Given the description of an element on the screen output the (x, y) to click on. 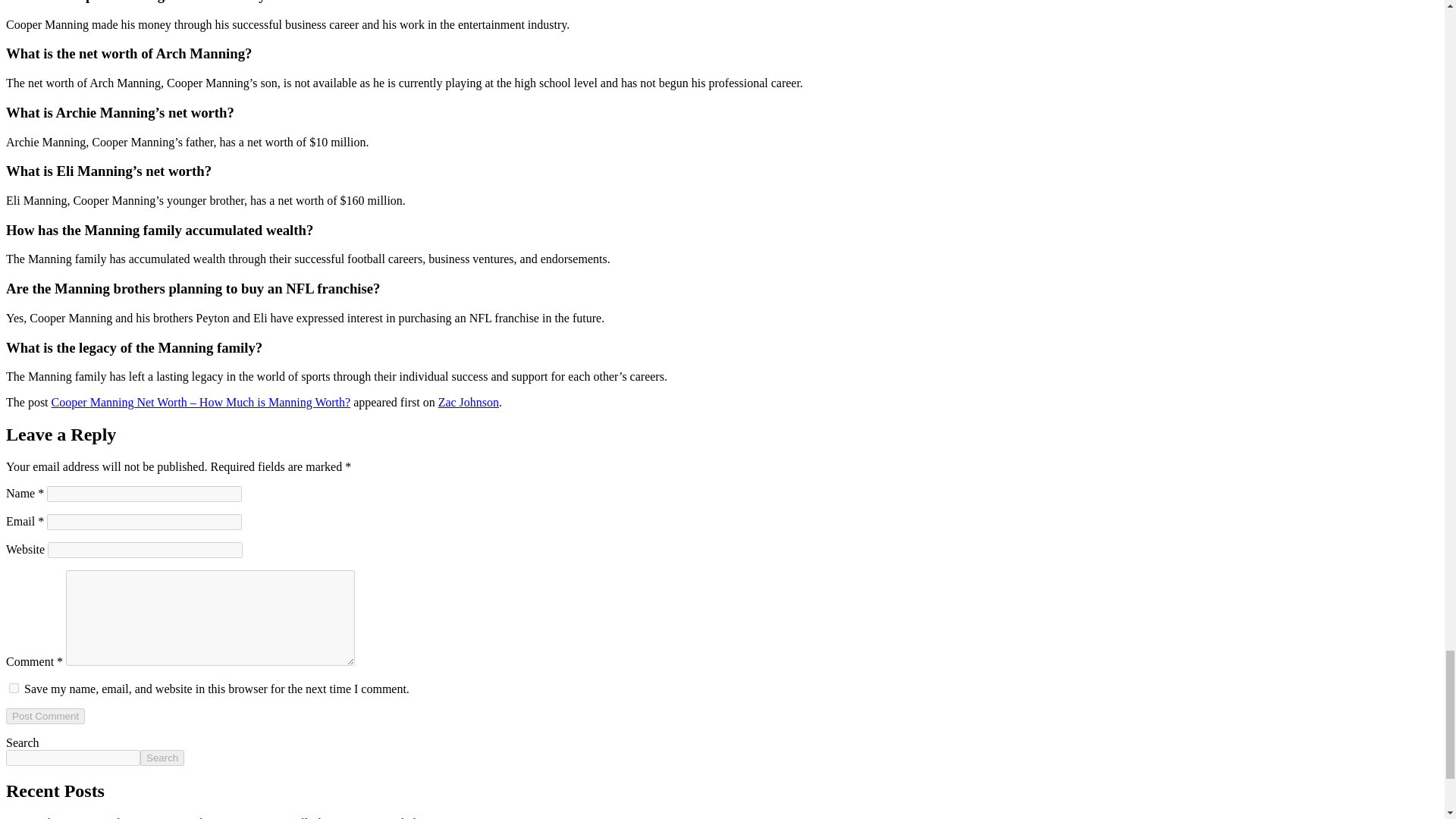
Zac Johnson (468, 401)
Post Comment (44, 715)
Search (161, 757)
Post Comment (44, 715)
yes (13, 687)
